Given the description of an element on the screen output the (x, y) to click on. 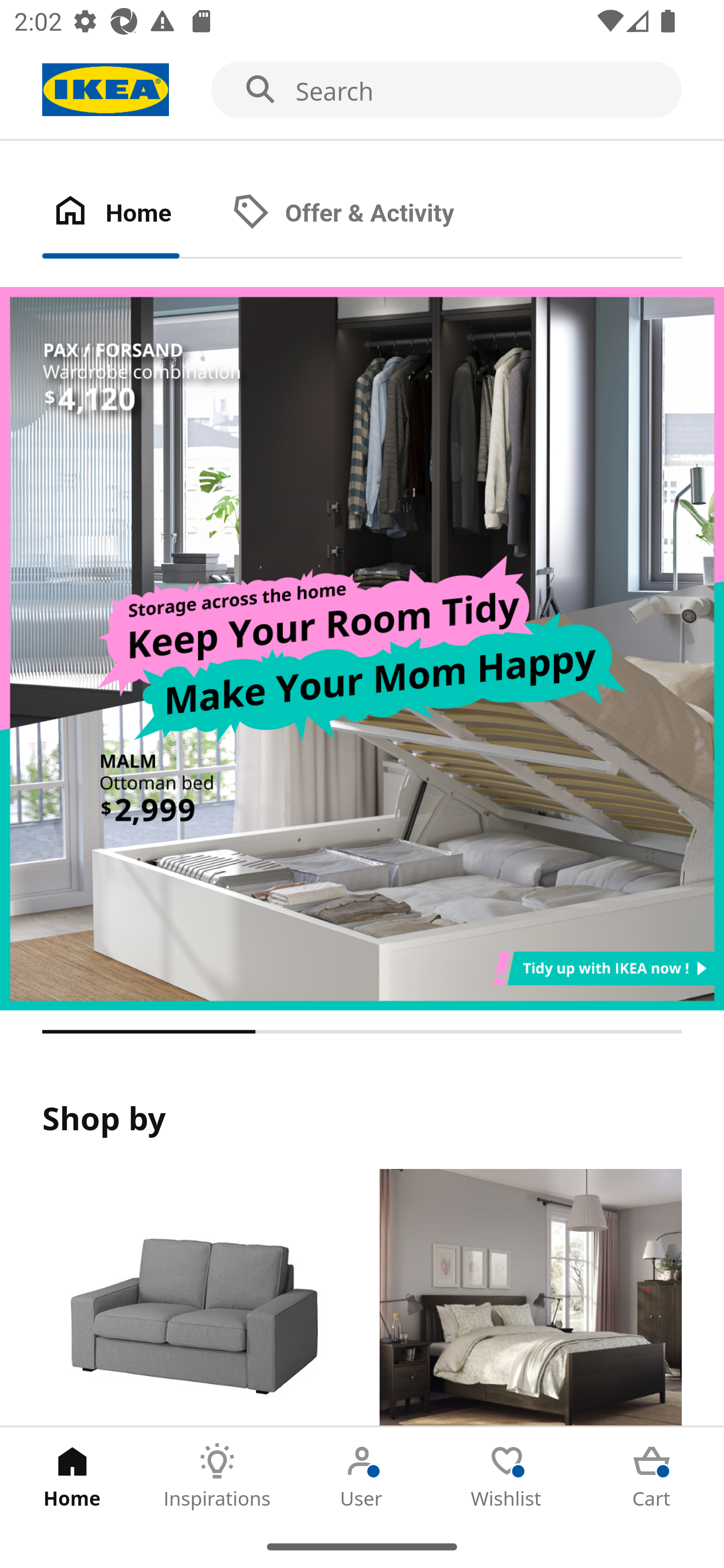
Search (361, 90)
Home
Tab 1 of 2 (131, 213)
Offer & Activity
Tab 2 of 2 (363, 213)
Products (192, 1297)
Rooms (530, 1297)
Home
Tab 1 of 5 (72, 1476)
Inspirations
Tab 2 of 5 (216, 1476)
User
Tab 3 of 5 (361, 1476)
Wishlist
Tab 4 of 5 (506, 1476)
Cart
Tab 5 of 5 (651, 1476)
